Given the description of an element on the screen output the (x, y) to click on. 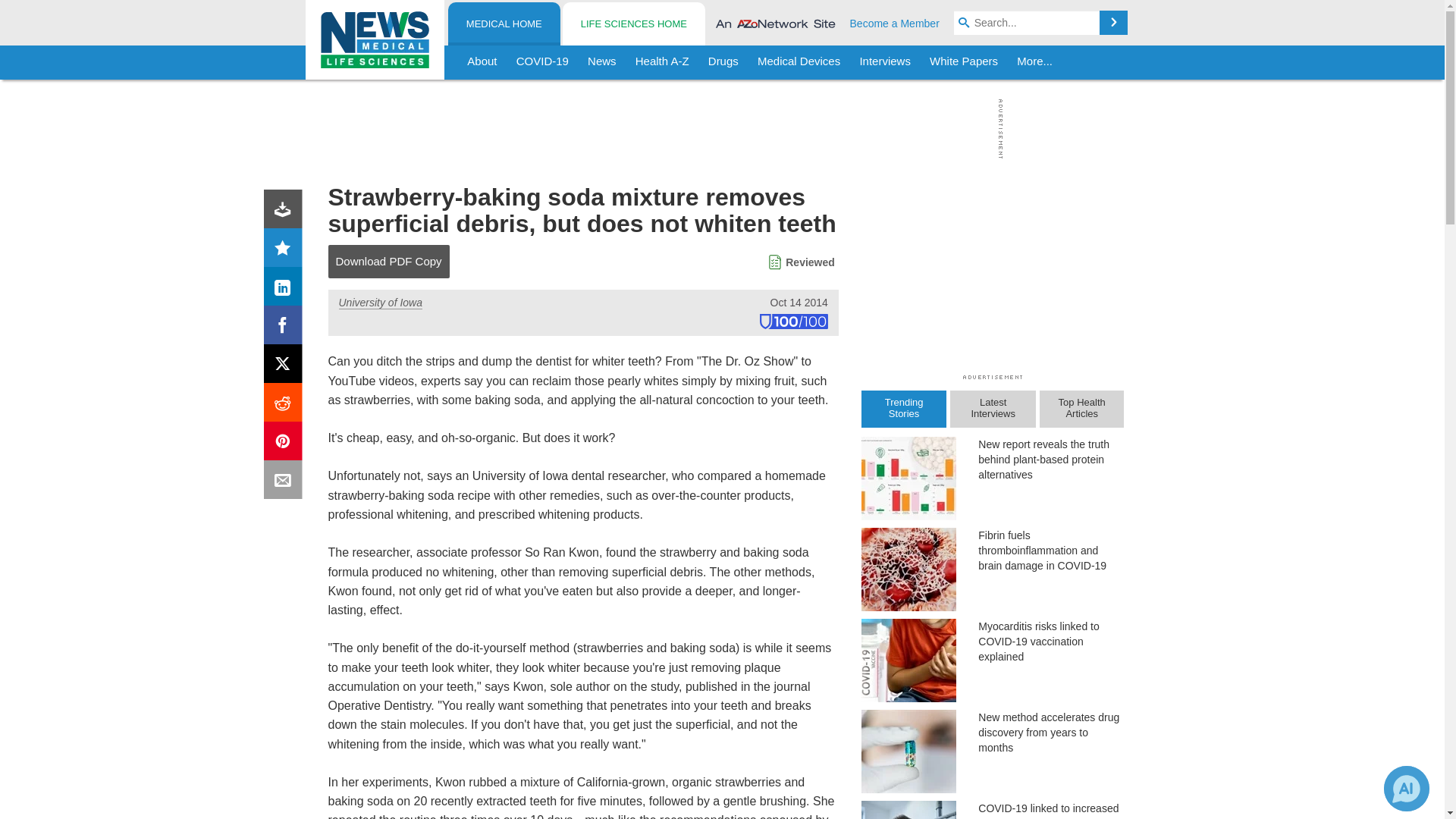
COVID-19 (542, 62)
White Papers (963, 62)
Health A-Z (662, 62)
Medical Devices (798, 62)
Drugs (722, 62)
About (482, 62)
Download PDF copy (285, 212)
LIFE SCIENCES HOME (633, 23)
Become a Member (894, 22)
Pinterest (285, 443)
